Given the description of an element on the screen output the (x, y) to click on. 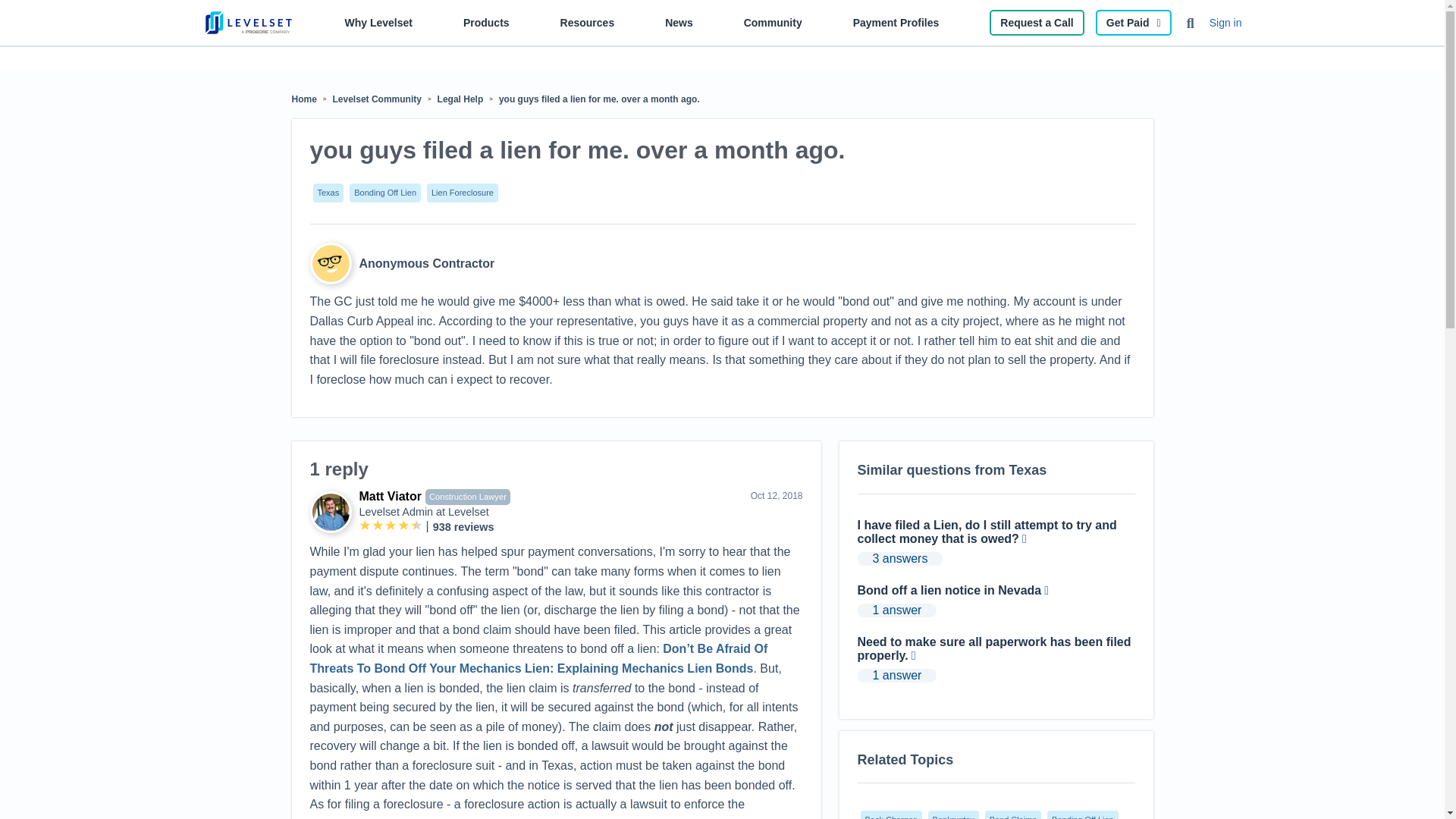
Resources (587, 25)
Products (486, 25)
Why Levelset (377, 25)
4.5 Stars (390, 526)
